Given the description of an element on the screen output the (x, y) to click on. 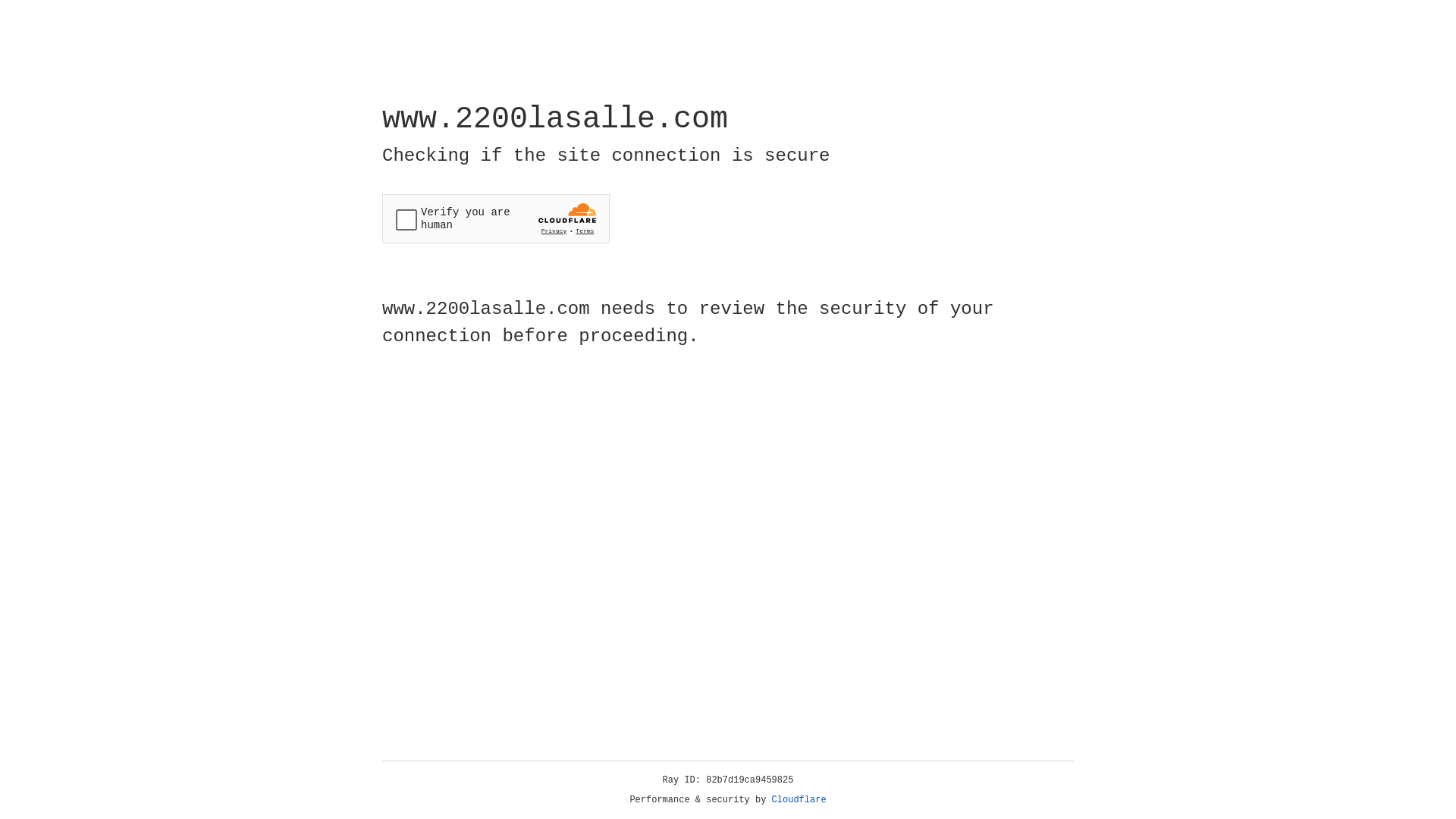
Cloudflare Element type: text (798, 799)
Widget containing a Cloudflare security challenge Element type: hover (495, 218)
